Given the description of an element on the screen output the (x, y) to click on. 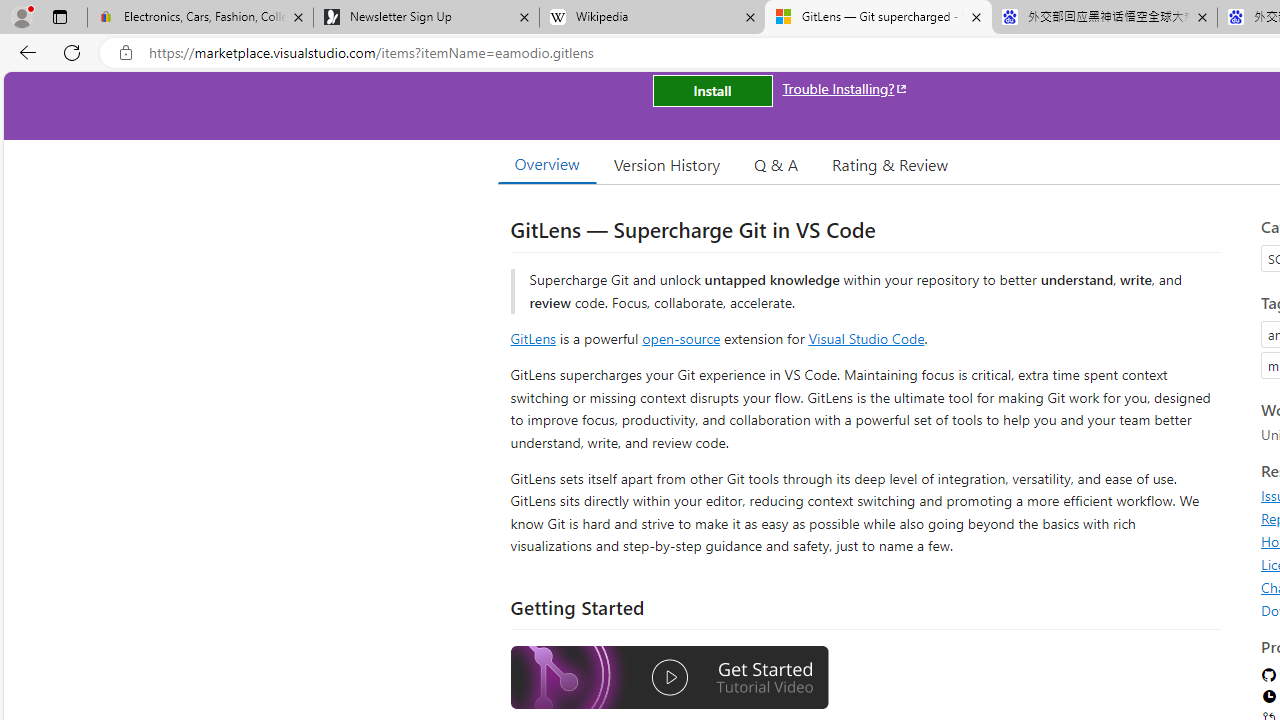
open-source (681, 337)
Watch the GitLens Getting Started video (669, 679)
Rating & Review (890, 164)
Install (712, 90)
Q & A (776, 164)
